Given the description of an element on the screen output the (x, y) to click on. 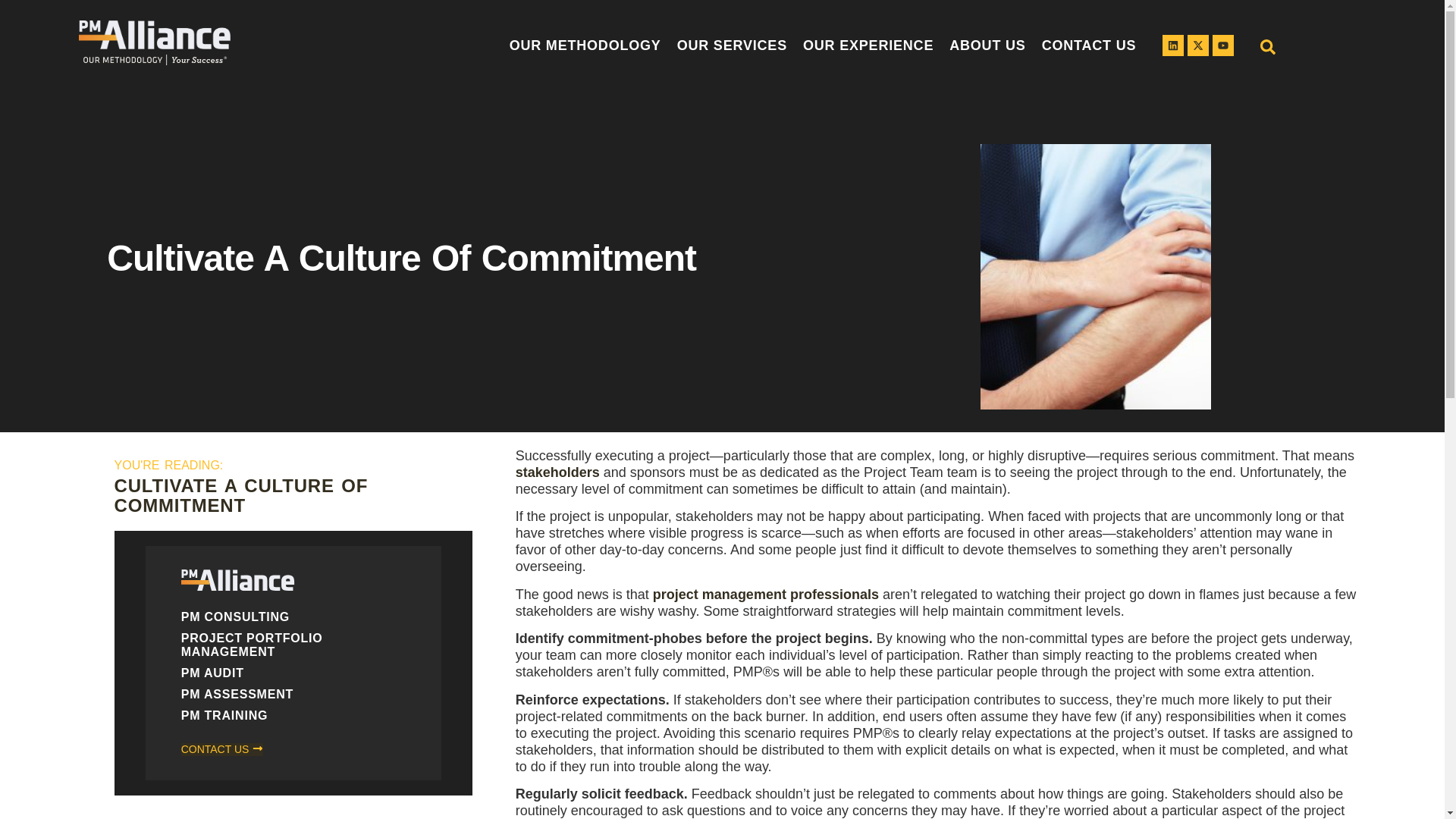
Project Management Methodology (587, 45)
Project Management Services (735, 45)
OUR METHODOLOGY (587, 45)
OUR SERVICES (735, 45)
